Given the description of an element on the screen output the (x, y) to click on. 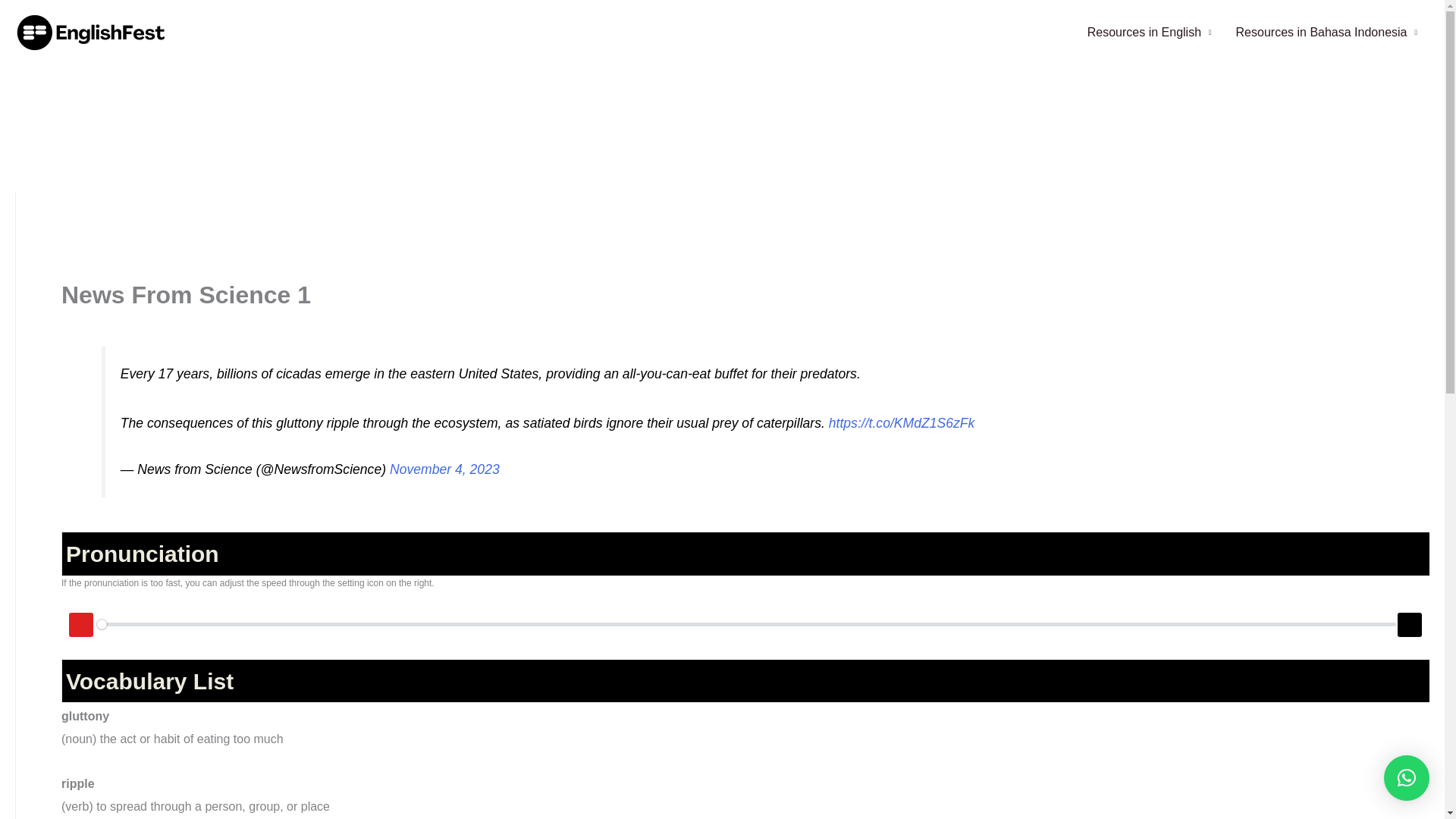
November 4, 2023 (444, 468)
Resources in Bahasa Indonesia (1326, 31)
Advertisement (745, 232)
Play (80, 624)
Settings (1409, 624)
Resources in English (1149, 31)
